Given the description of an element on the screen output the (x, y) to click on. 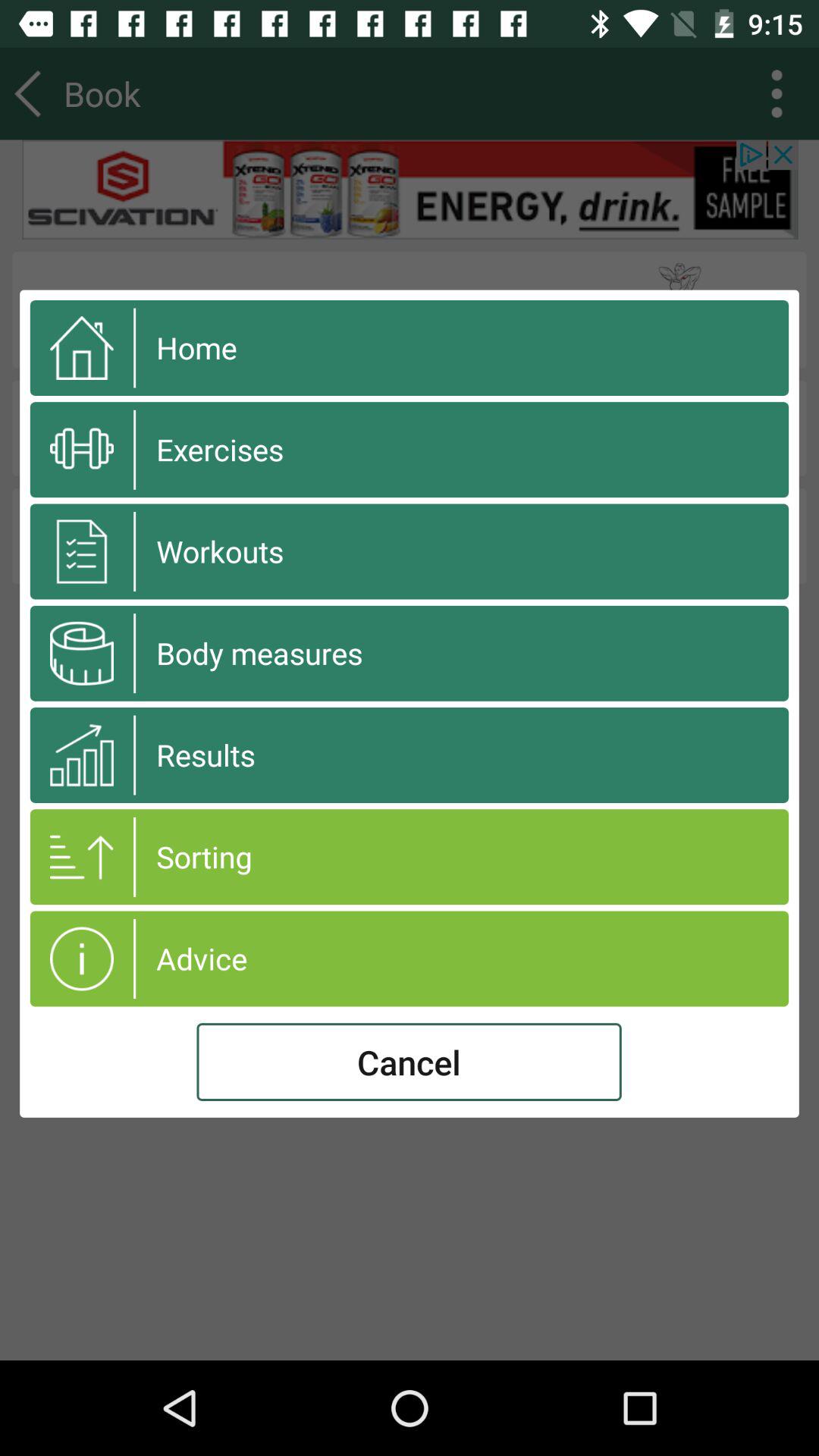
select the button at the bottom (408, 1062)
